Given the description of an element on the screen output the (x, y) to click on. 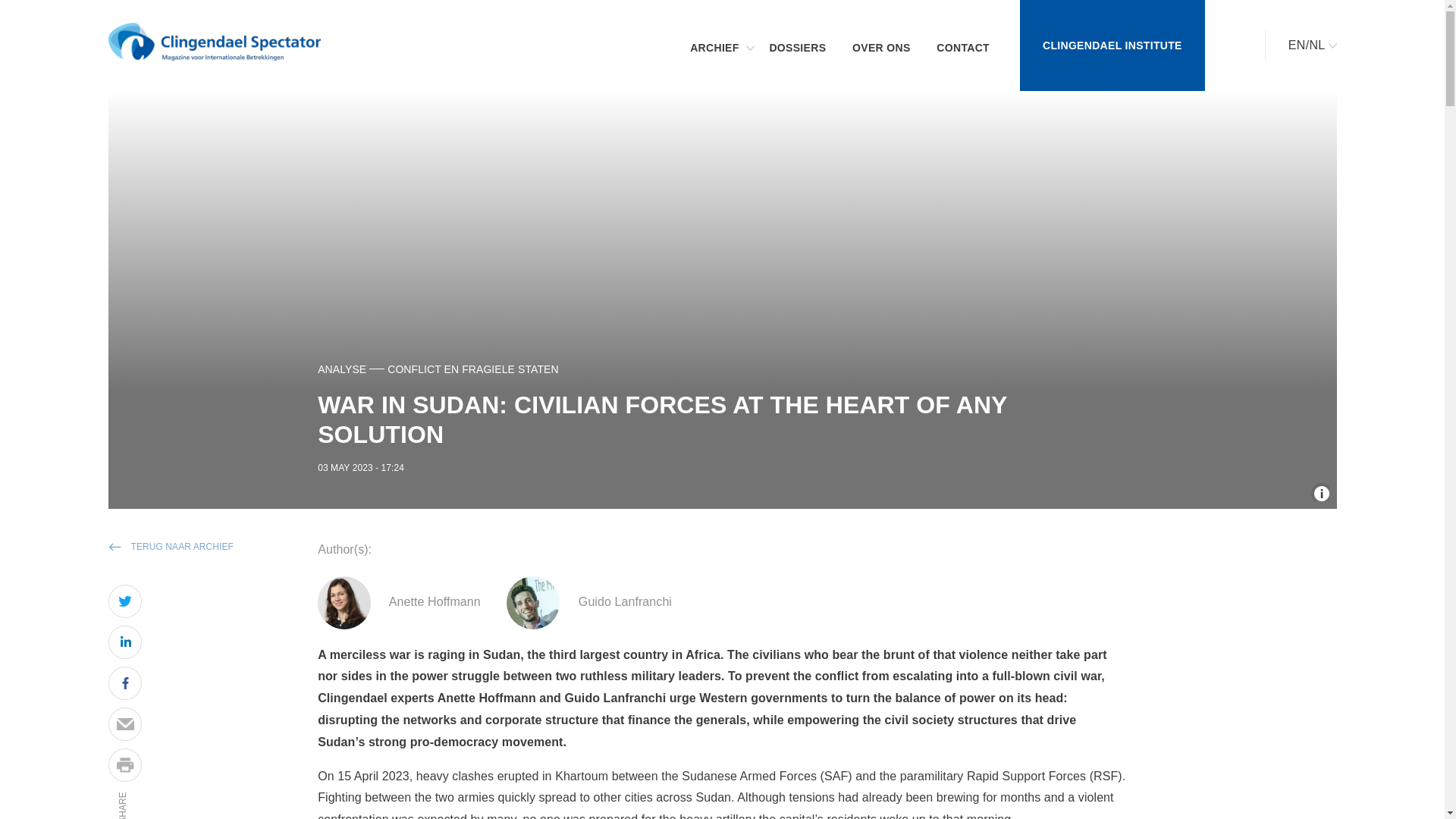
Anette Hoffmann (369, 587)
CLINGENDAEL INSTITUTE (1112, 45)
Guido Lanfranchi (609, 587)
